Given the description of an element on the screen output the (x, y) to click on. 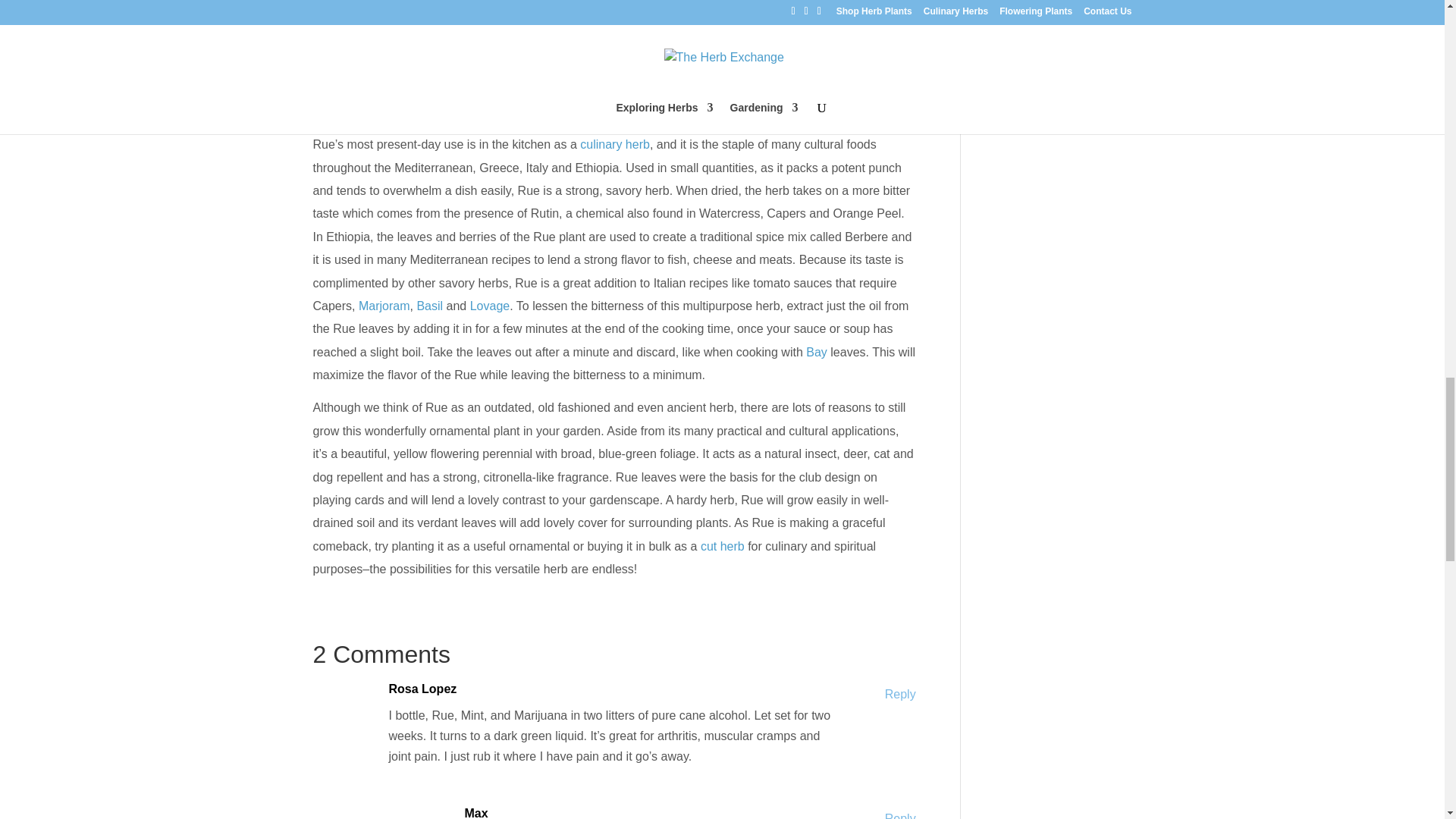
Basil (429, 305)
Lovage (490, 305)
Culinary Herbs (614, 144)
Lovage (490, 305)
Marjoram (384, 305)
Bay (815, 351)
Sweet Marjoram (384, 305)
HER-RUE01-3 (613, 56)
culinary herb (614, 144)
Basil (429, 305)
